Given the description of an element on the screen output the (x, y) to click on. 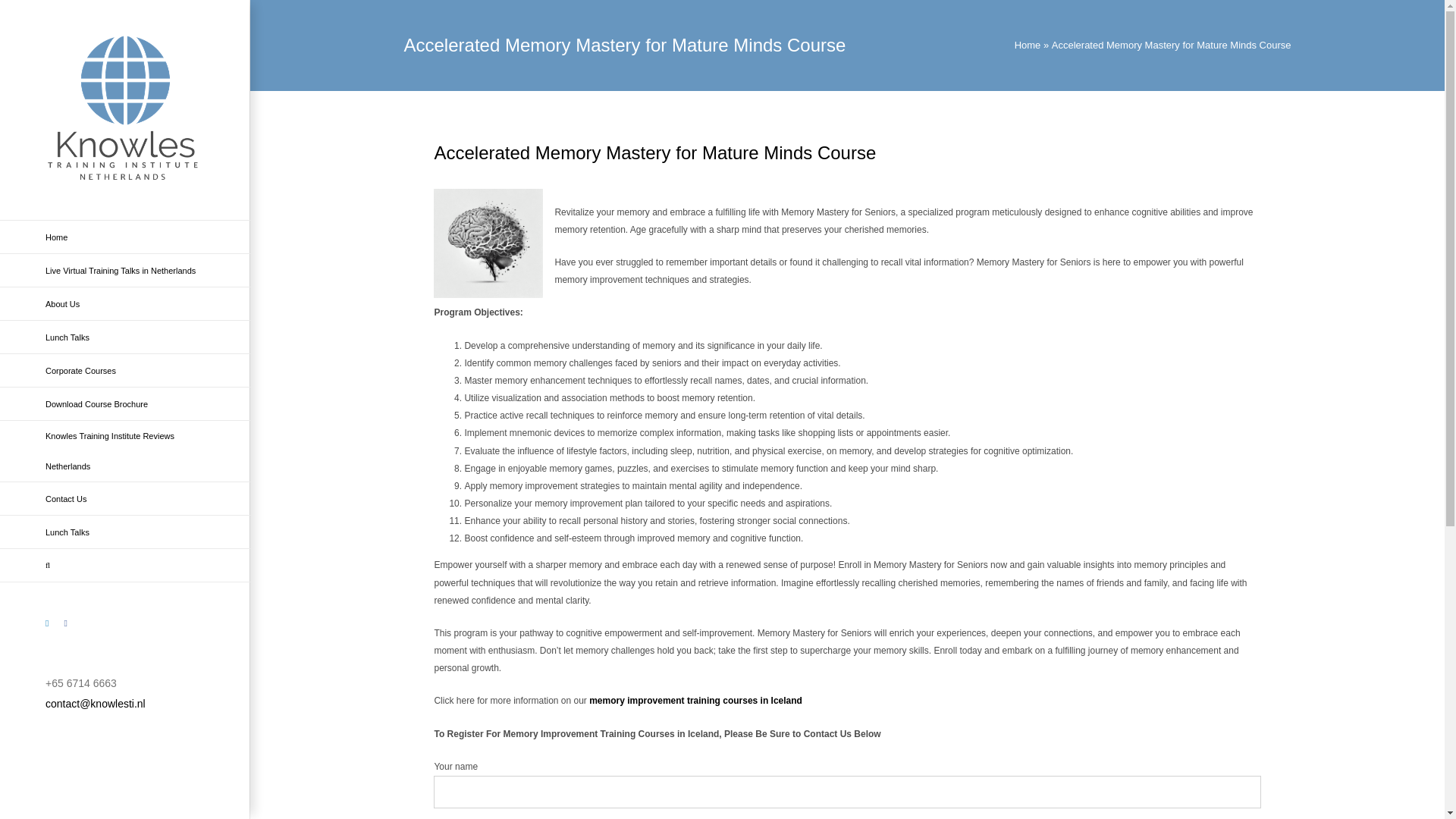
Lunch Talks (125, 531)
Download Course Brochure (125, 403)
Search (125, 565)
Contact Us (125, 498)
memory improvement training courses in Iceland (695, 700)
Knowles Training Institute Reviews Netherlands (125, 451)
Home (1027, 44)
Home (125, 236)
Lunch Talks (125, 337)
About Us (125, 304)
